Given the description of an element on the screen output the (x, y) to click on. 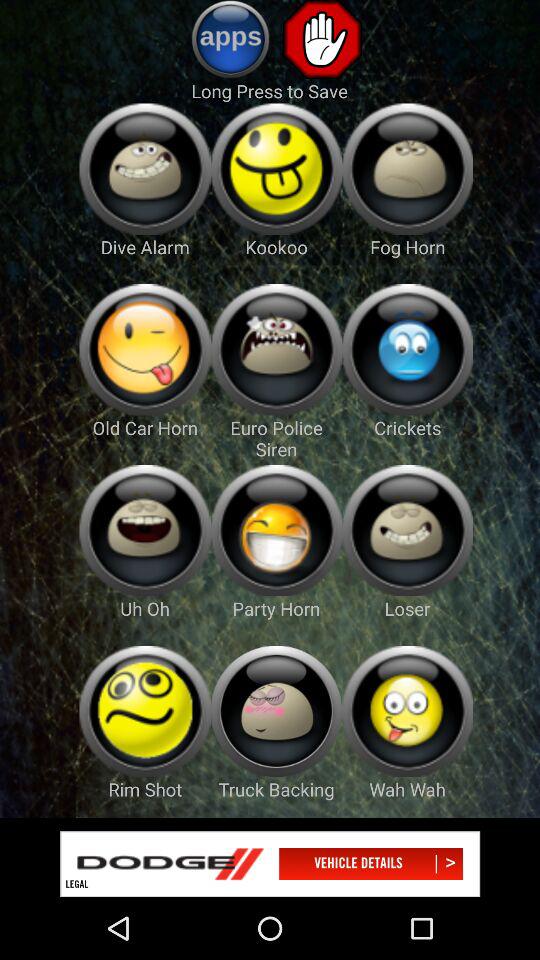
play old car horn ringtone (144, 349)
